Given the description of an element on the screen output the (x, y) to click on. 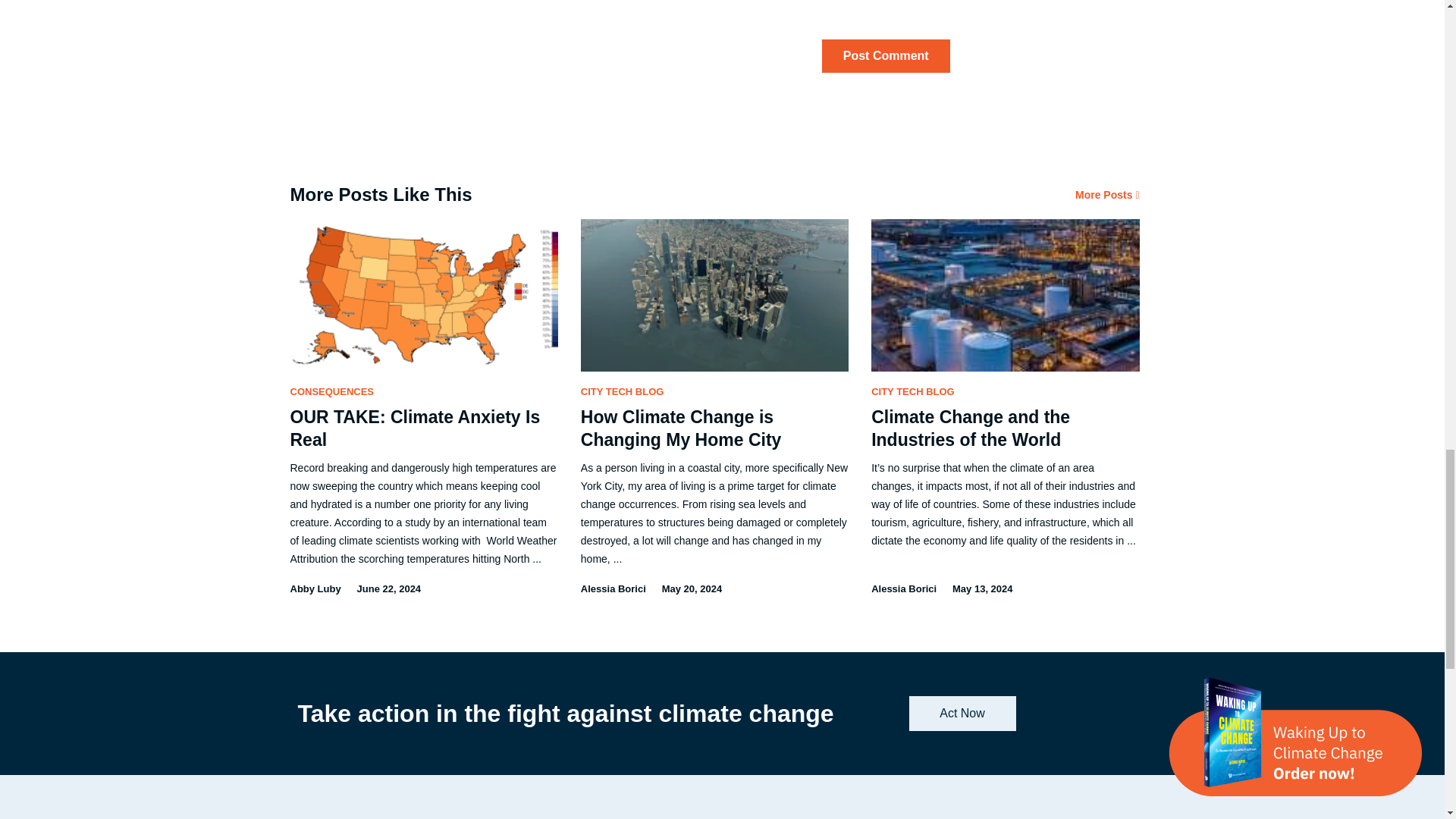
Post Comment (886, 55)
Post Comment (886, 55)
Climate Change and the Industries of the World (970, 428)
OUR TAKE: Climate Anxiety Is Real (414, 428)
More Posts (1106, 194)
How Climate Change is Changing My Home City (680, 428)
Act Now (961, 713)
